Given the description of an element on the screen output the (x, y) to click on. 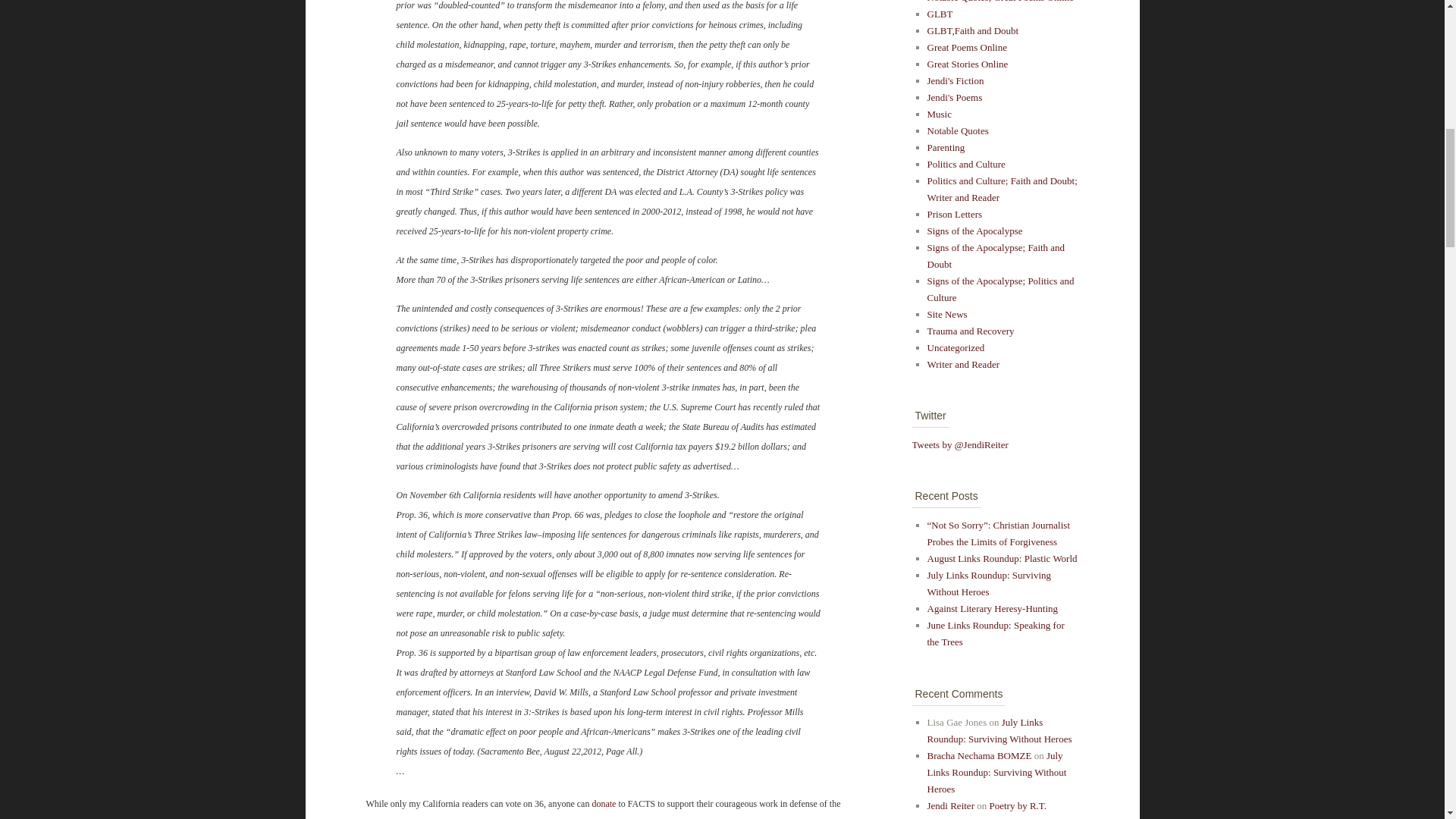
GLBT,Faith and Doubt (971, 30)
GLBT (939, 13)
donate (603, 803)
Great Poems Online (966, 47)
